Given the description of an element on the screen output the (x, y) to click on. 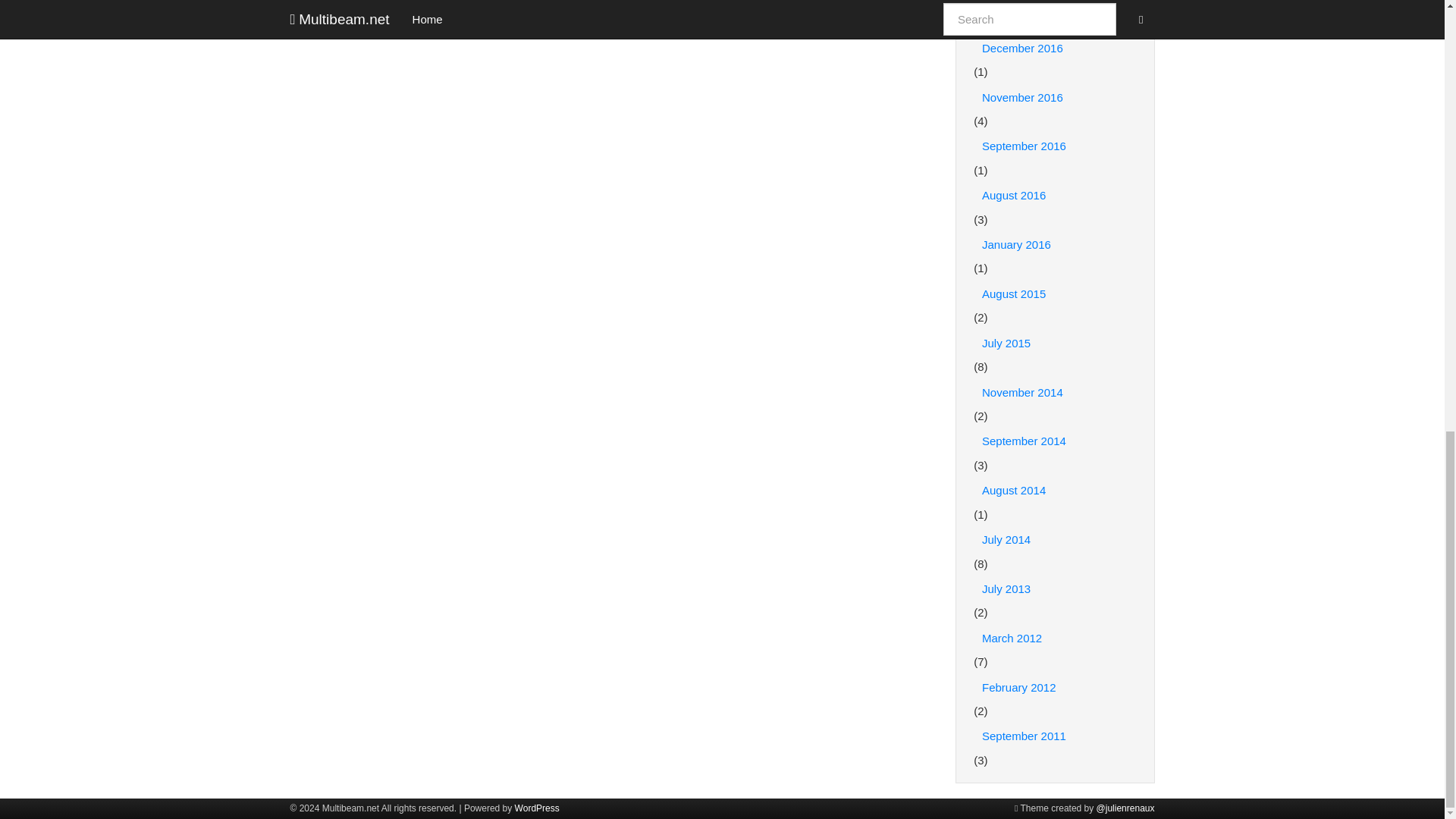
April 2017 (1055, 7)
